Given the description of an element on the screen output the (x, y) to click on. 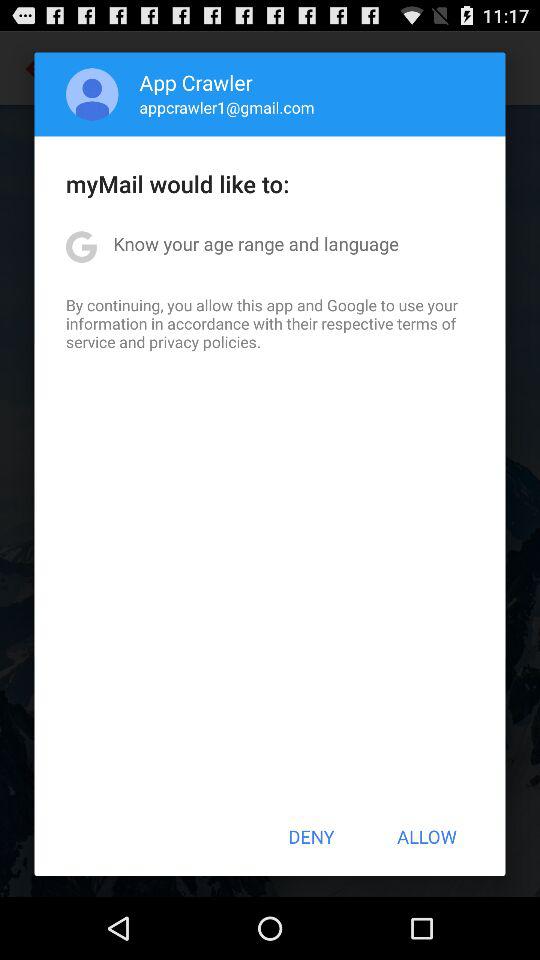
swipe to deny icon (311, 836)
